Given the description of an element on the screen output the (x, y) to click on. 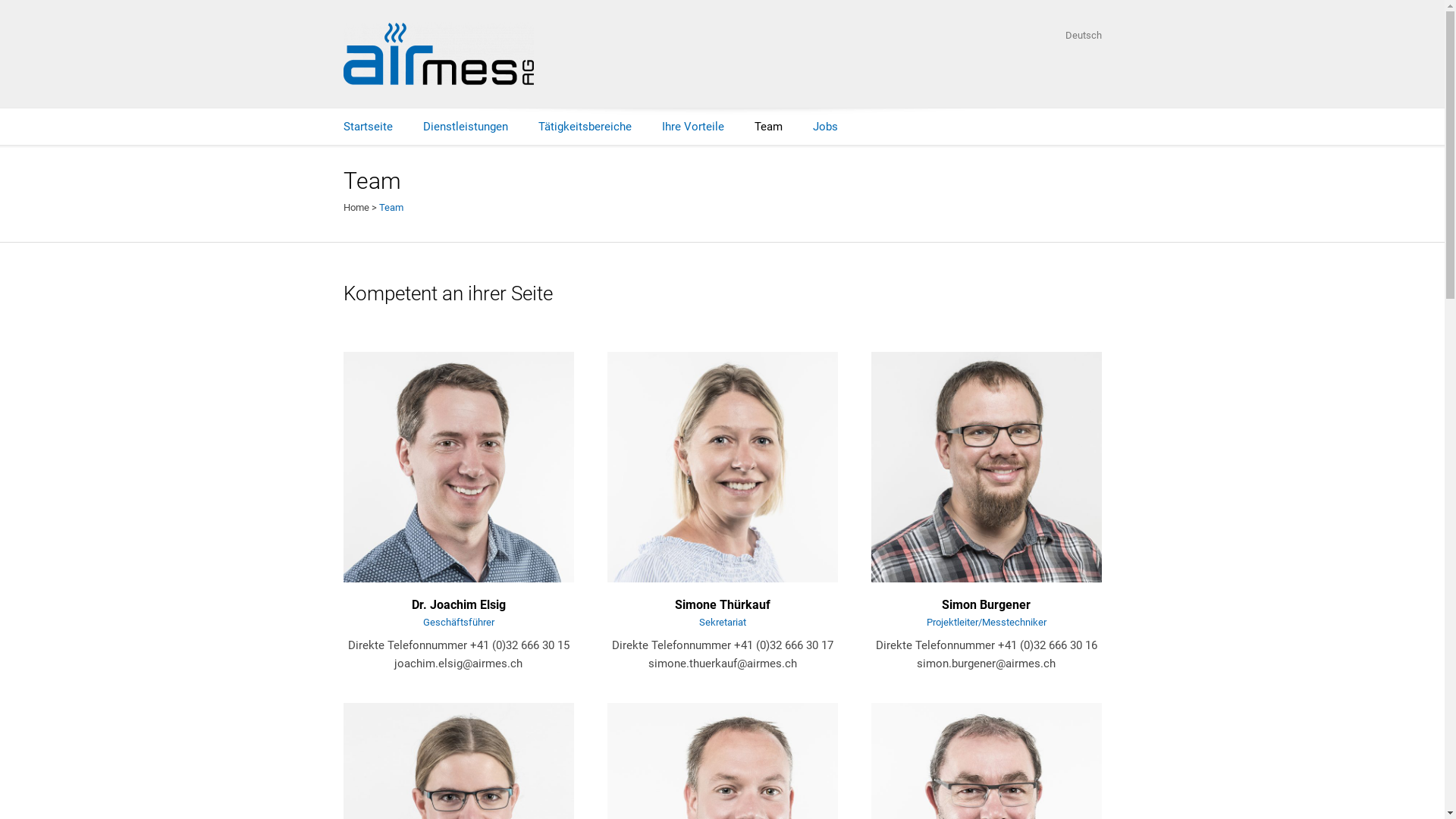
Airmes Element type: hover (437, 53)
Dienstleistungen Element type: text (465, 126)
Startseite Element type: text (367, 126)
Deutsch Element type: text (1082, 35)
Ihre Vorteile Element type: text (692, 126)
Team Element type: text (767, 126)
Jobs Element type: text (825, 126)
Home Element type: text (355, 207)
